Given the description of an element on the screen output the (x, y) to click on. 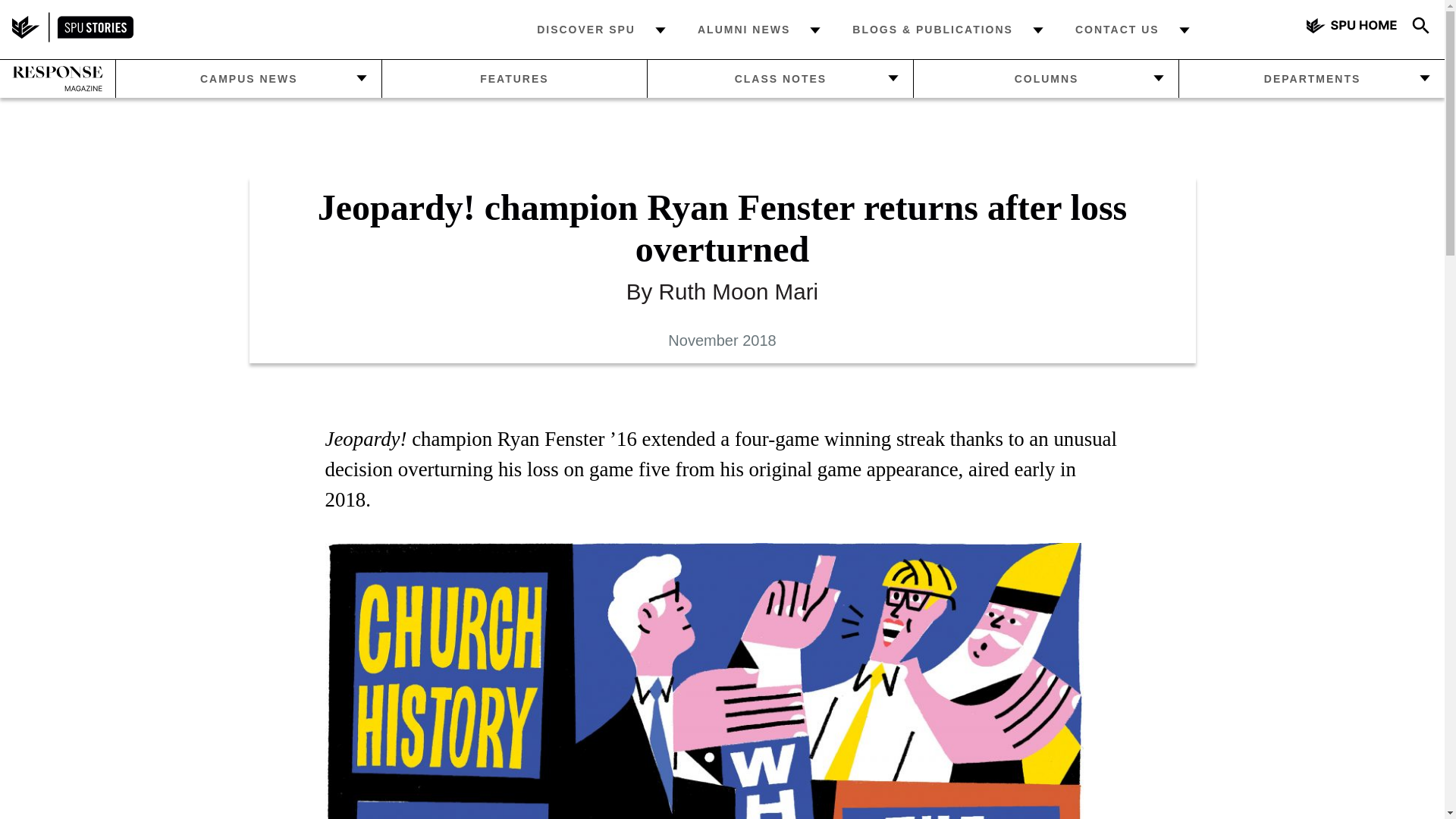
CONTACT US (1117, 29)
ALUMNI NEWS (743, 29)
DISCOVER SPU (585, 29)
